Given the description of an element on the screen output the (x, y) to click on. 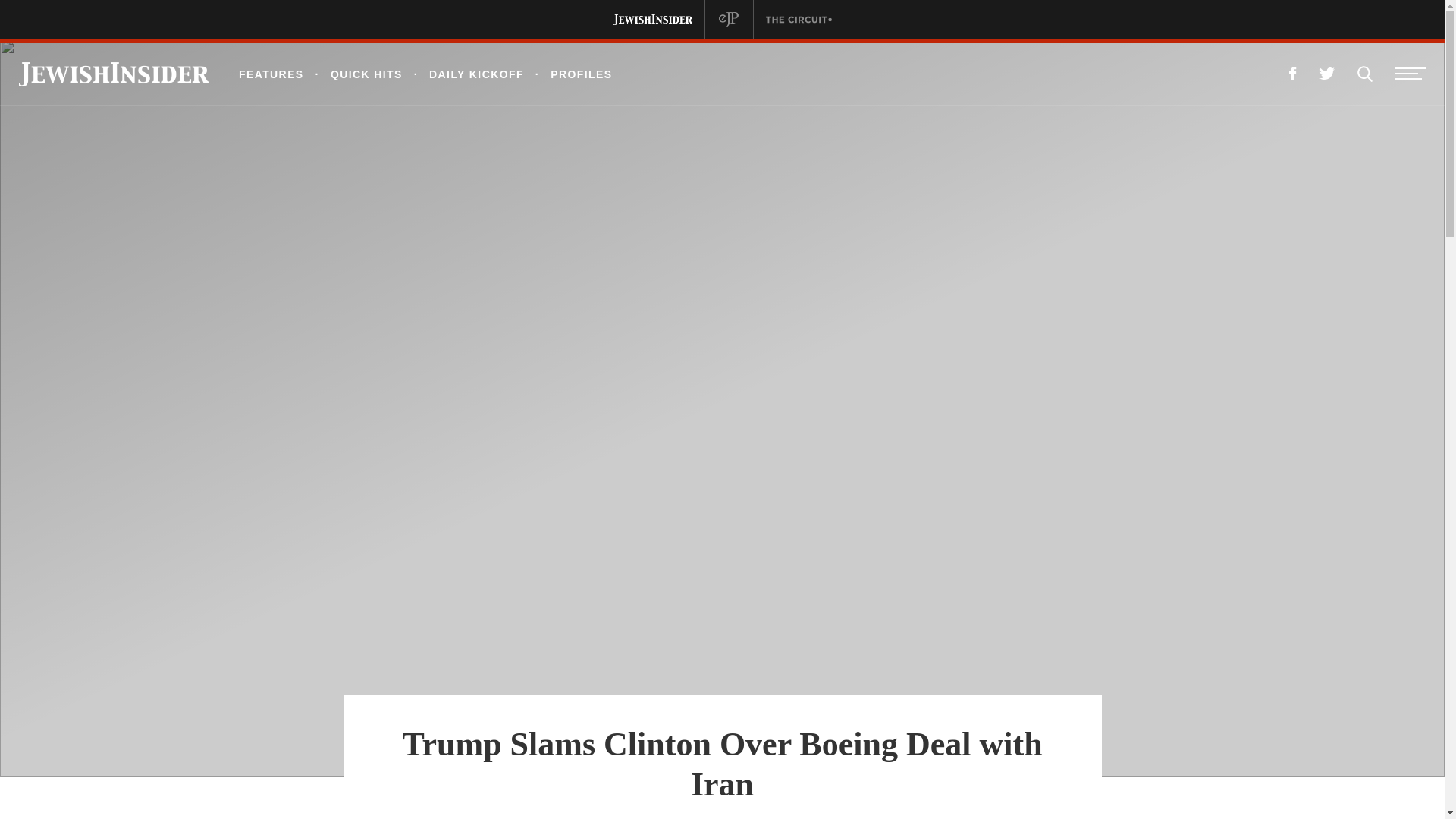
FEATURES (271, 73)
PROFILES (568, 73)
DAILY KICKOFF (463, 73)
QUICK HITS (353, 73)
